Given the description of an element on the screen output the (x, y) to click on. 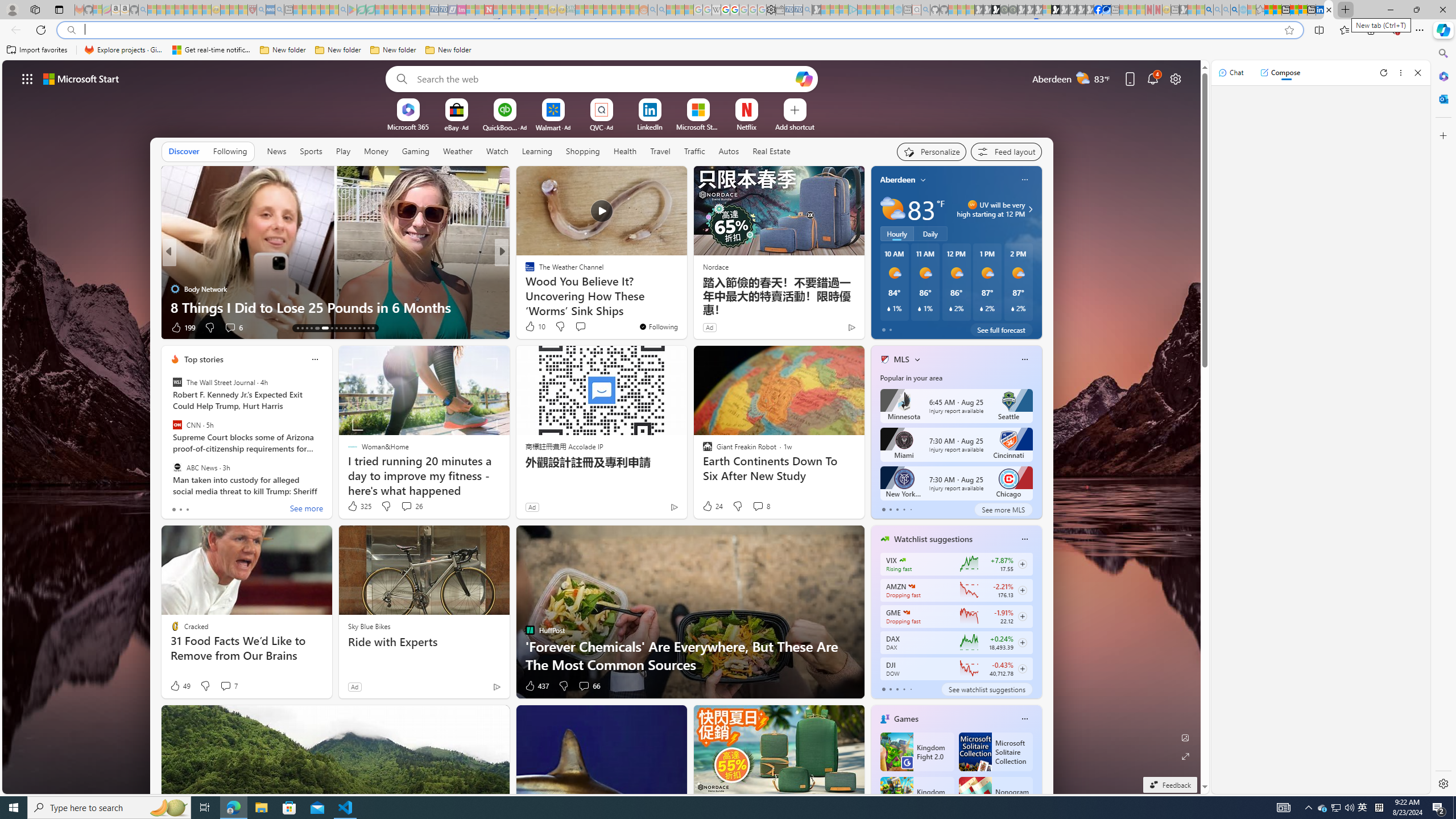
Aberdeen, Hong Kong SAR weather forecast | Microsoft Weather (1277, 9)
See more MLS (1003, 509)
github - Search - Sleeping (924, 9)
Edit Background (1185, 737)
Which foods have the most plastics? You may be surprised (684, 298)
